Given the description of an element on the screen output the (x, y) to click on. 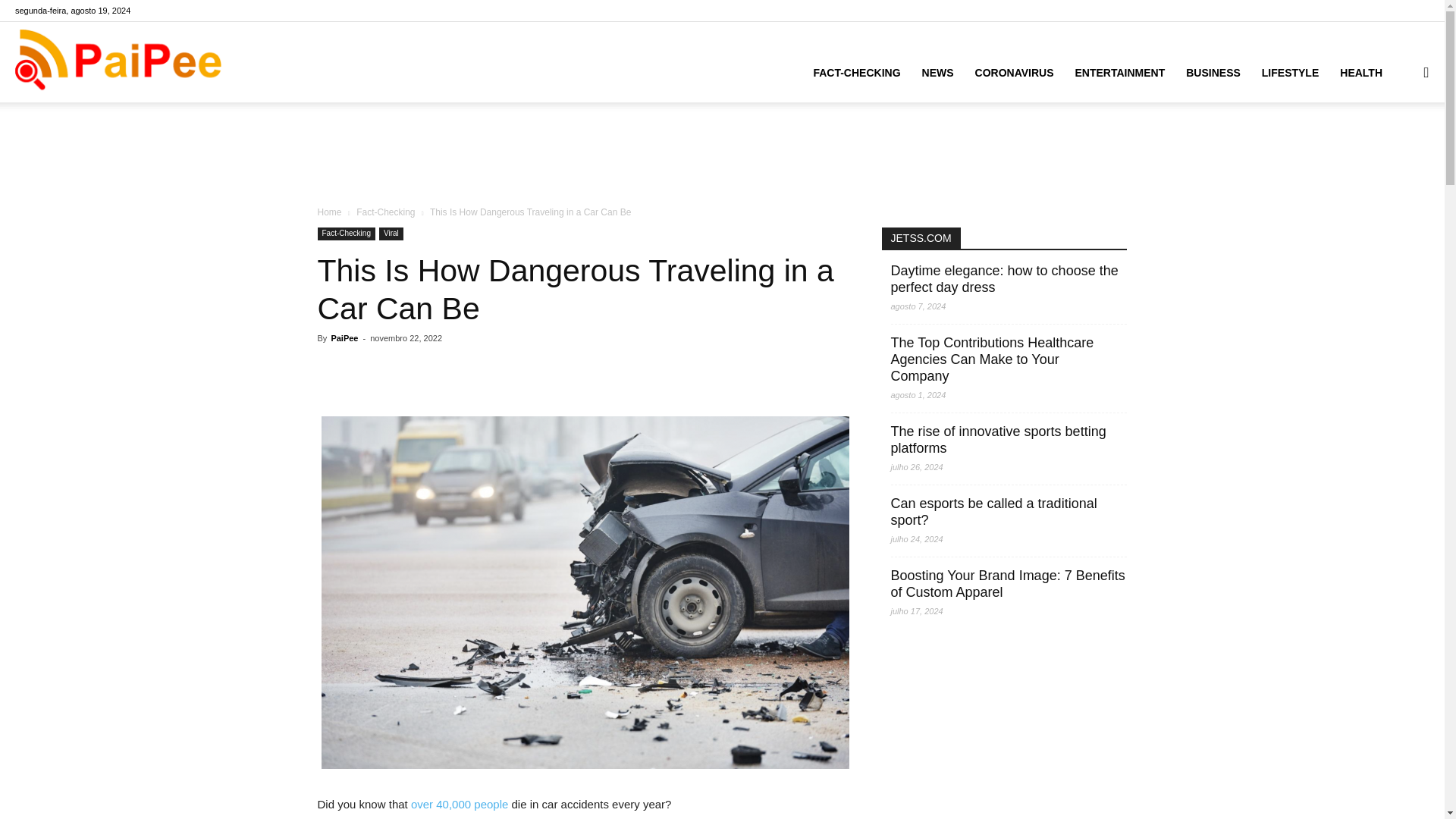
Home (328, 212)
Advertisement (721, 154)
Fact-Checking (345, 233)
HEALTH (1361, 72)
CORONAVIRUS (1013, 72)
LIFESTYLE (1289, 72)
PaiPee (344, 338)
Viral (390, 233)
Search (1395, 144)
PaiPee (118, 61)
